Given the description of an element on the screen output the (x, y) to click on. 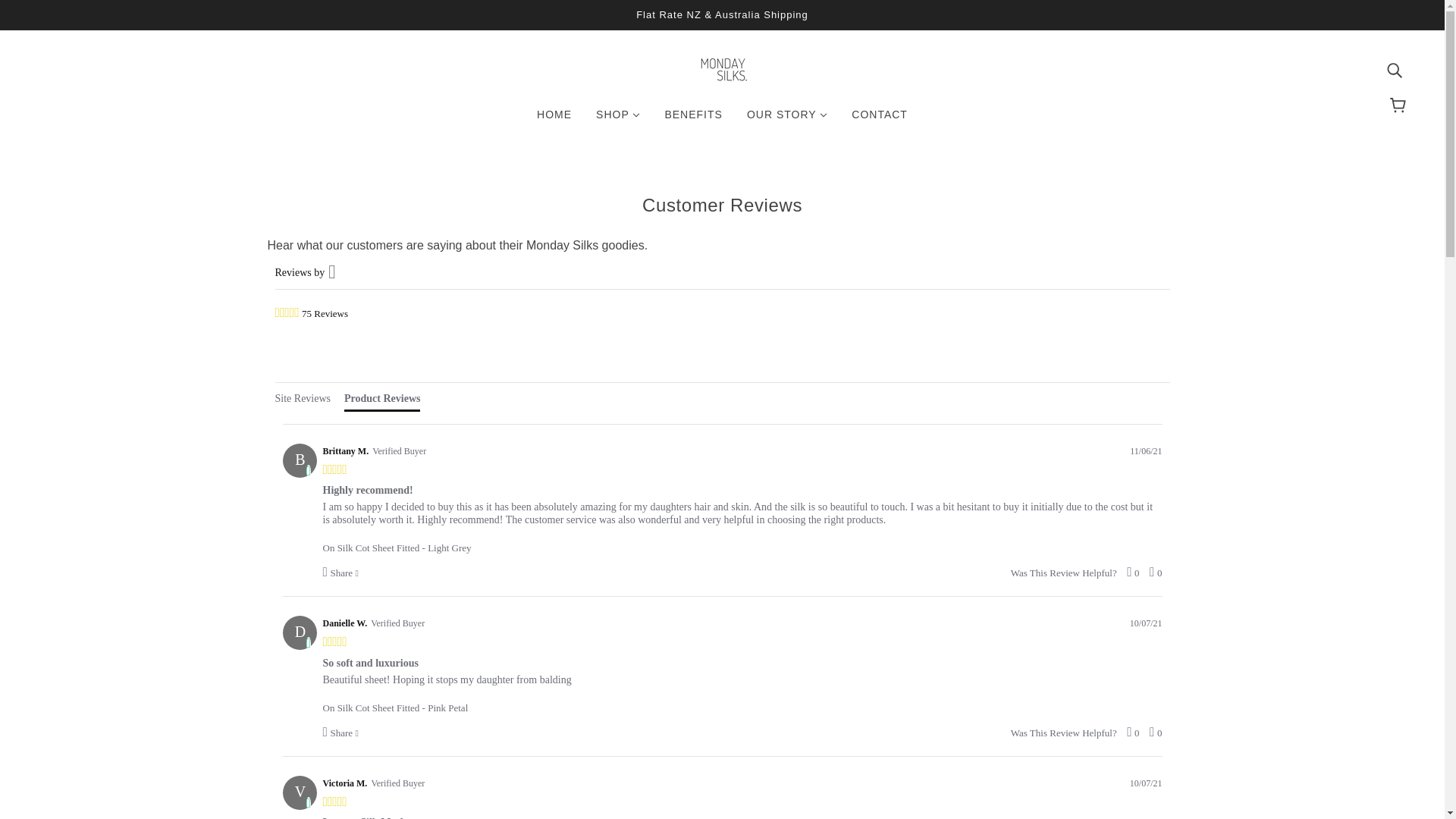
On Silk Cot Sheet Fitted - Light Grey (742, 540)
OUR STORY  (787, 120)
HOME (553, 120)
75 Reviews (324, 313)
On Silk Cot Sheet Fitted - Pink Petal (742, 699)
BENEFITS (692, 120)
CONTACT (880, 120)
Monday Silks NZ (722, 78)
SHOP  (617, 120)
